Given the description of an element on the screen output the (x, y) to click on. 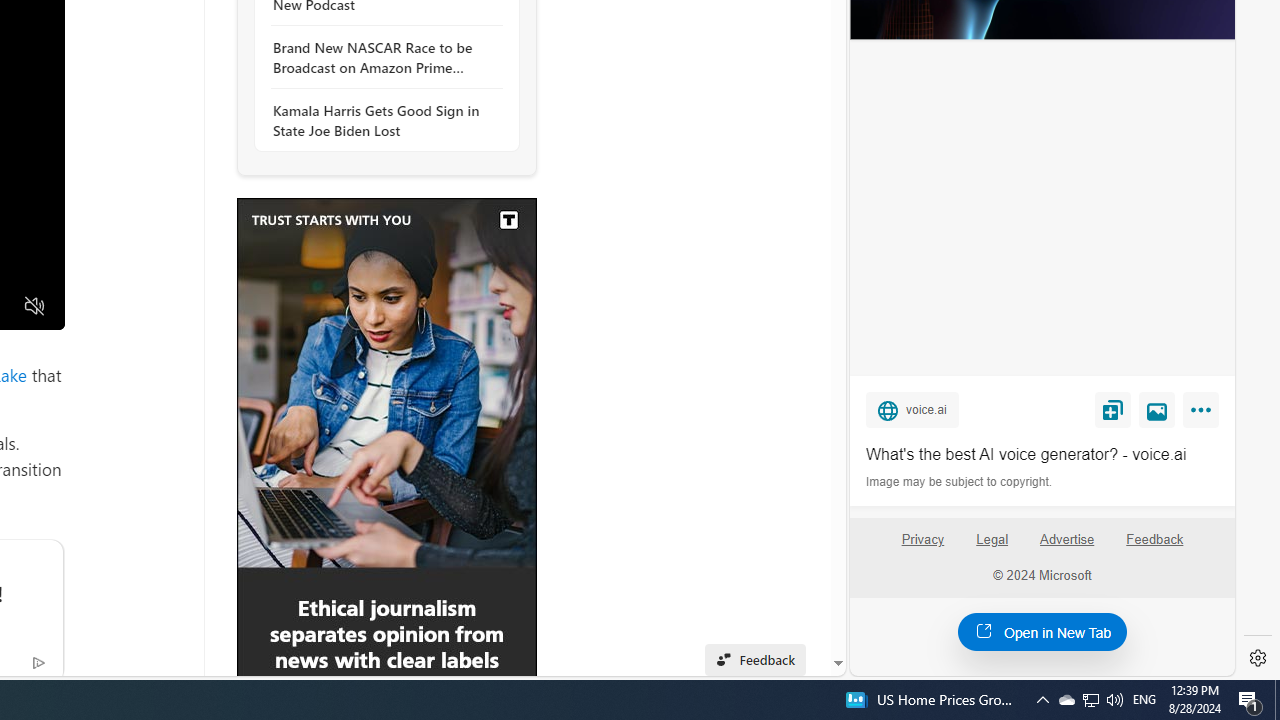
More (1204, 413)
Settings (1258, 658)
Feedback (1155, 539)
Feedback (1154, 547)
View image (1157, 409)
Open in New Tab (1042, 631)
